Given the description of an element on the screen output the (x, y) to click on. 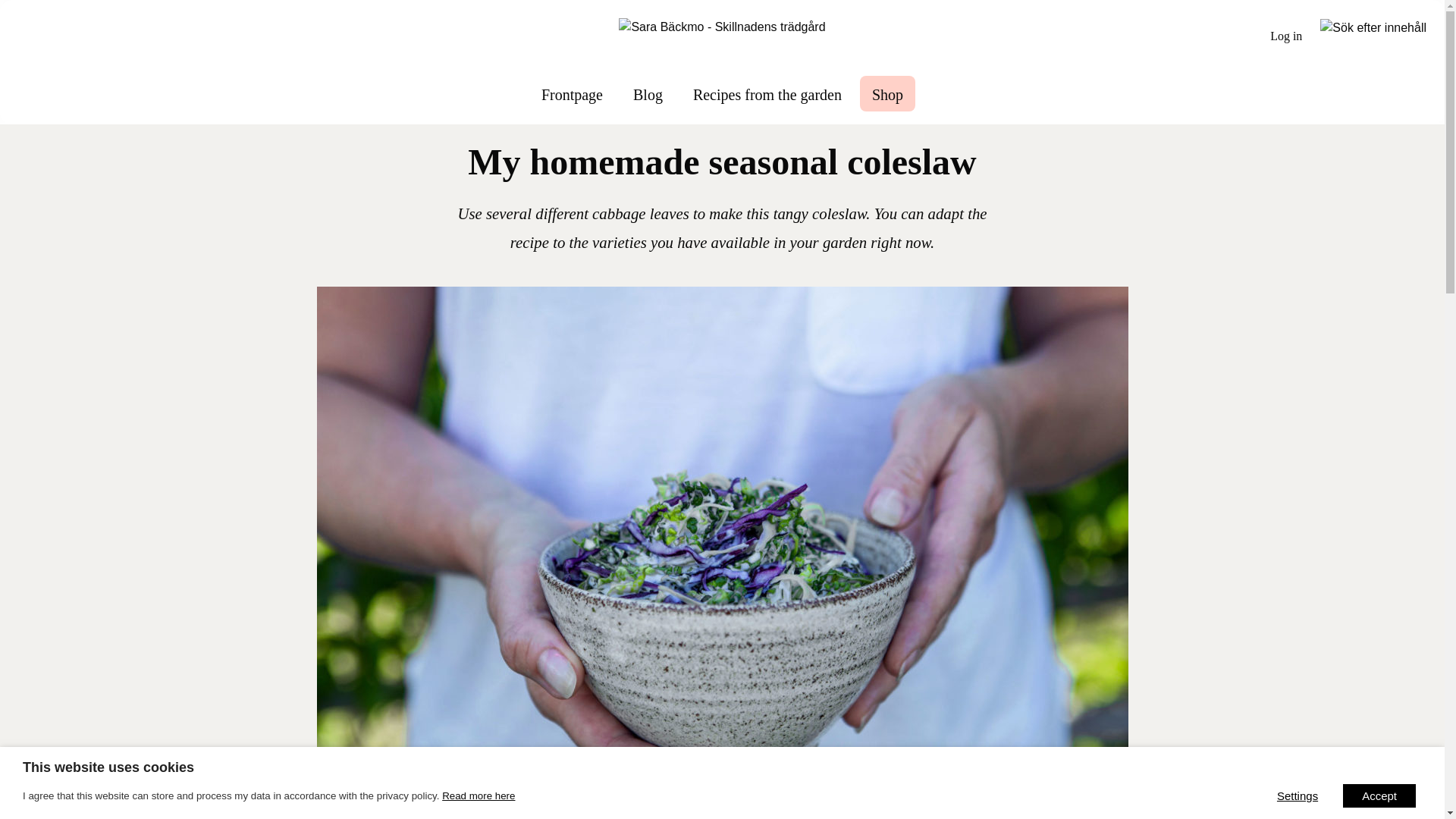
Accept (1378, 795)
Blog (648, 93)
Shop (887, 93)
Read more here (478, 795)
Frontpage (571, 93)
Settings (1296, 795)
Log in (1285, 36)
Recipes from the garden (767, 93)
